Given the description of an element on the screen output the (x, y) to click on. 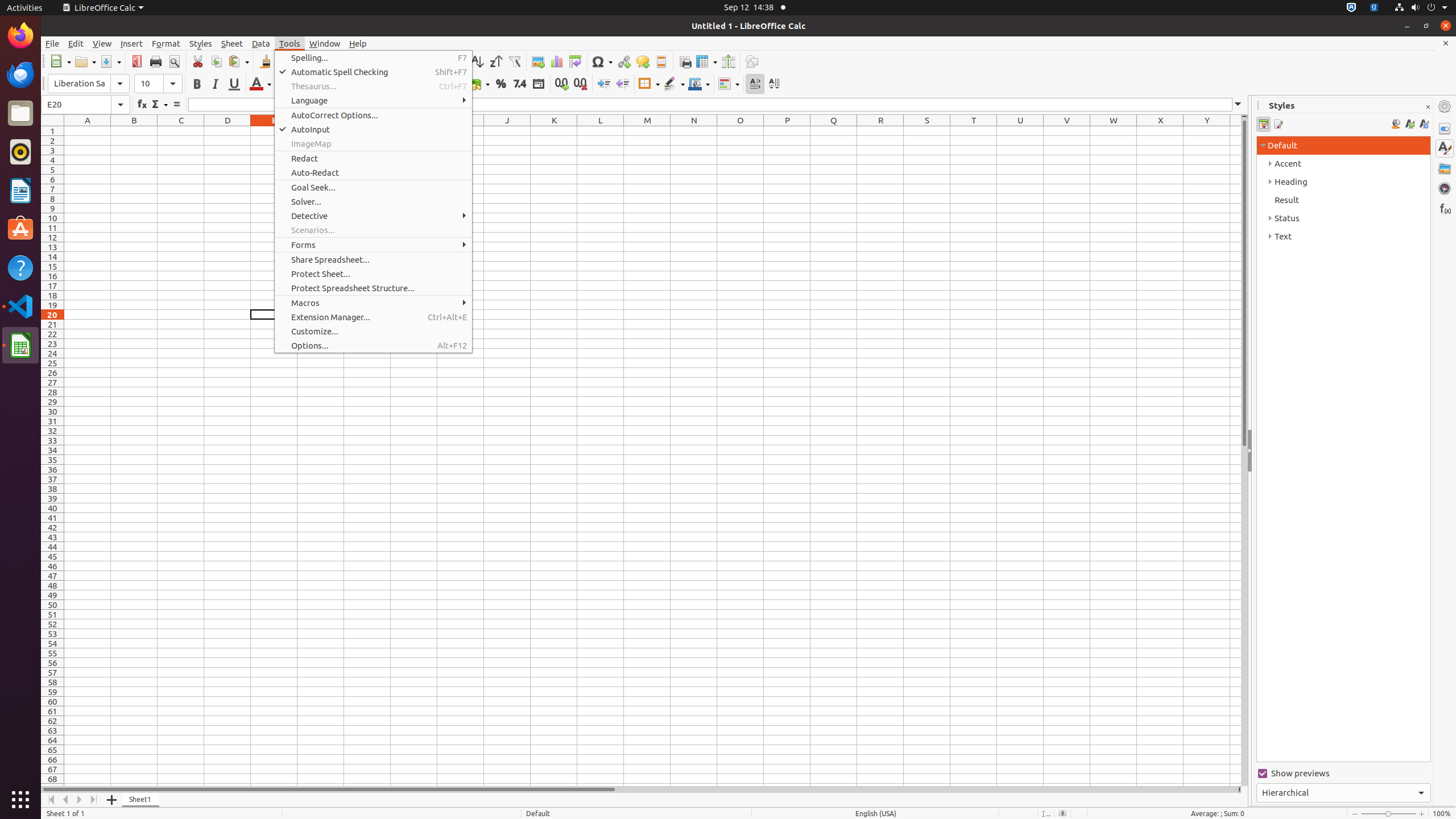
O1 Element type: table-cell (740, 130)
Border Color Element type: push-button (698, 83)
Styles Element type: menu (200, 43)
A1 Element type: table-cell (87, 130)
ImageMap Element type: menu-item (373, 143)
